Given the description of an element on the screen output the (x, y) to click on. 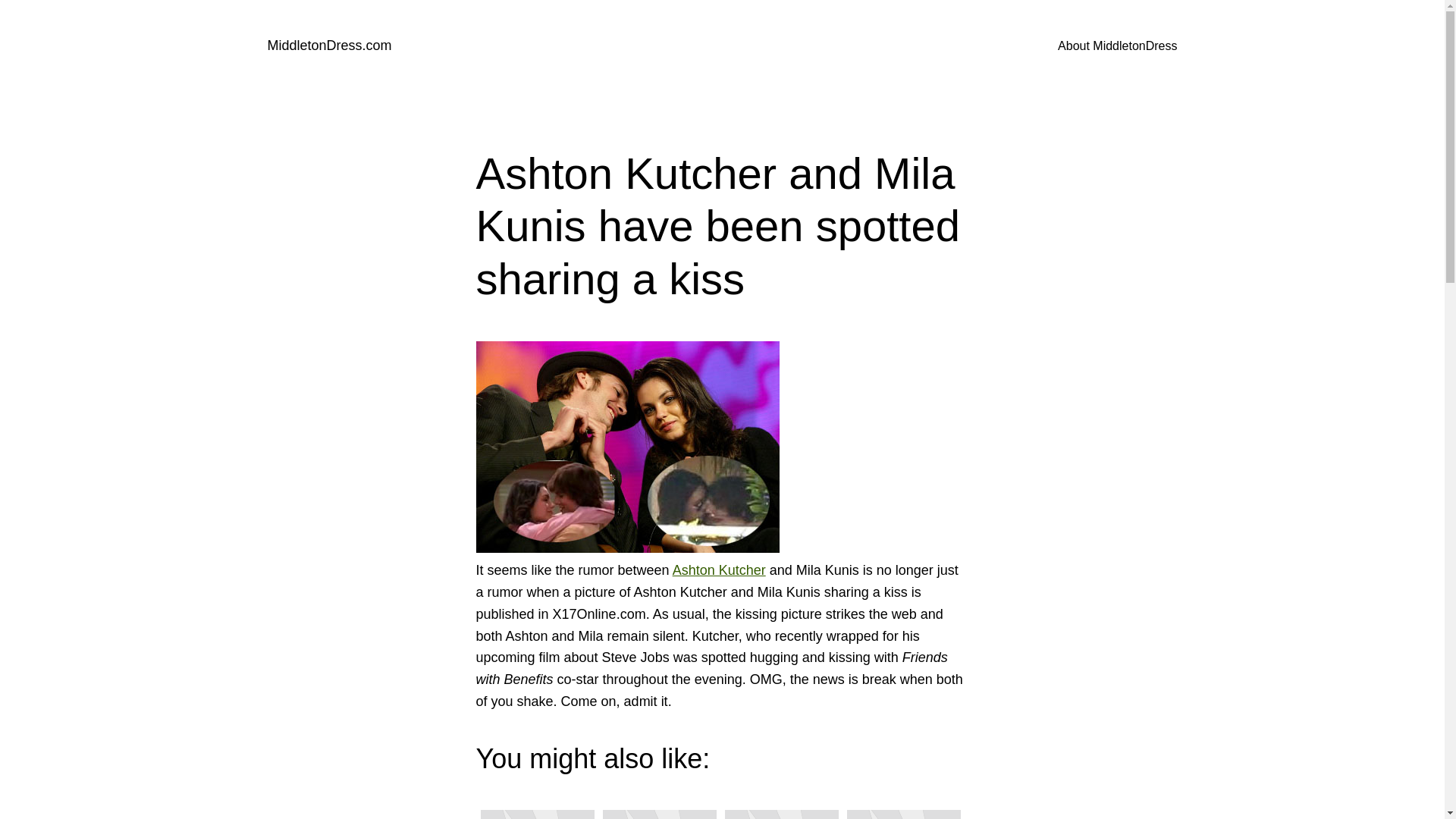
Rihanna cries to Oprah (781, 812)
About MiddletonDress (1117, 46)
MiddletonDress.com (328, 45)
ashton-kutcher-mila-kunis-kiss (627, 446)
Ashton Kutcher (718, 570)
Shiloh Jolie-Pitt photos that looks REALLY cute (902, 812)
